Given the description of an element on the screen output the (x, y) to click on. 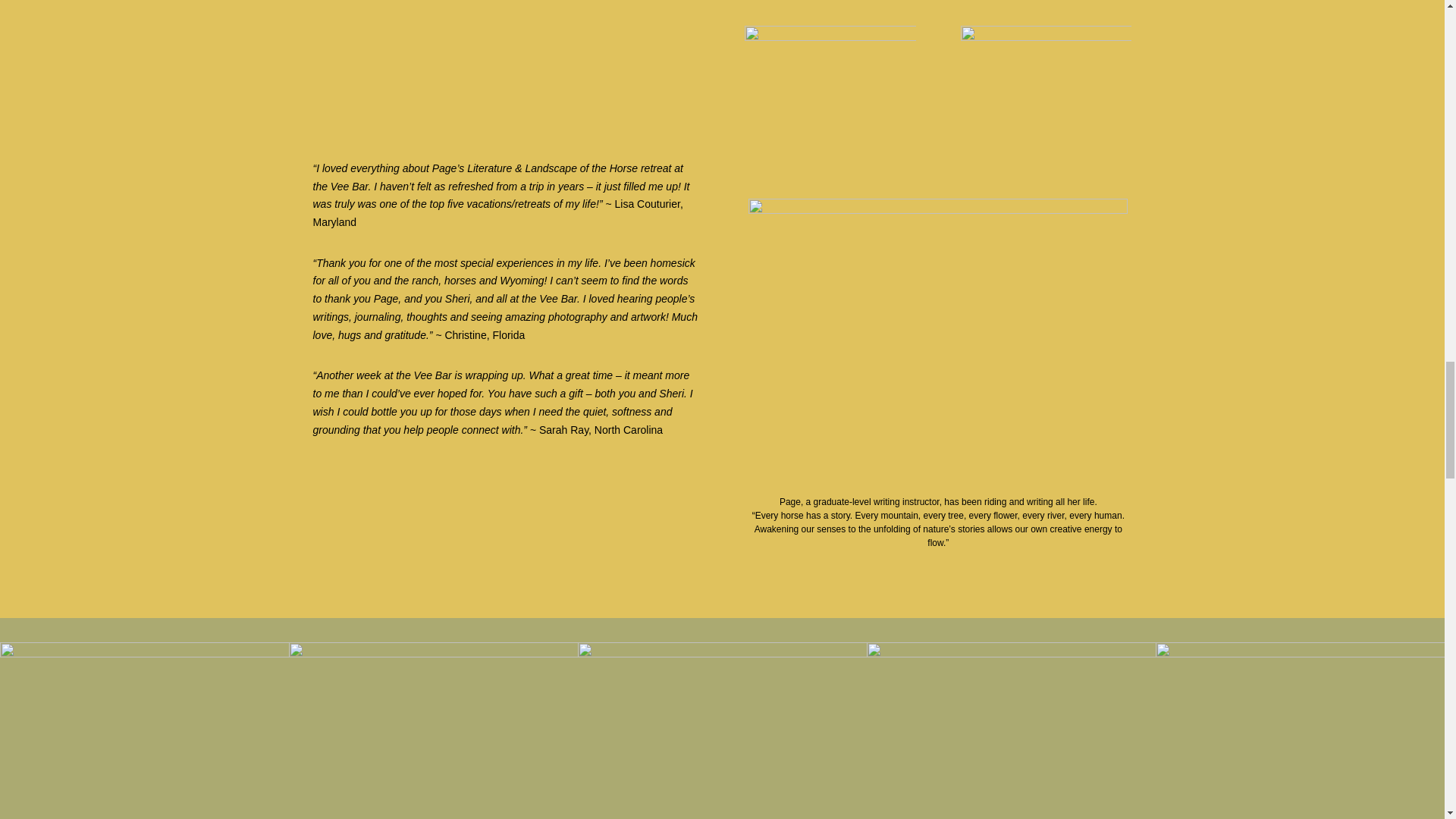
Meadow-Journaling (1045, 89)
